Given the description of an element on the screen output the (x, y) to click on. 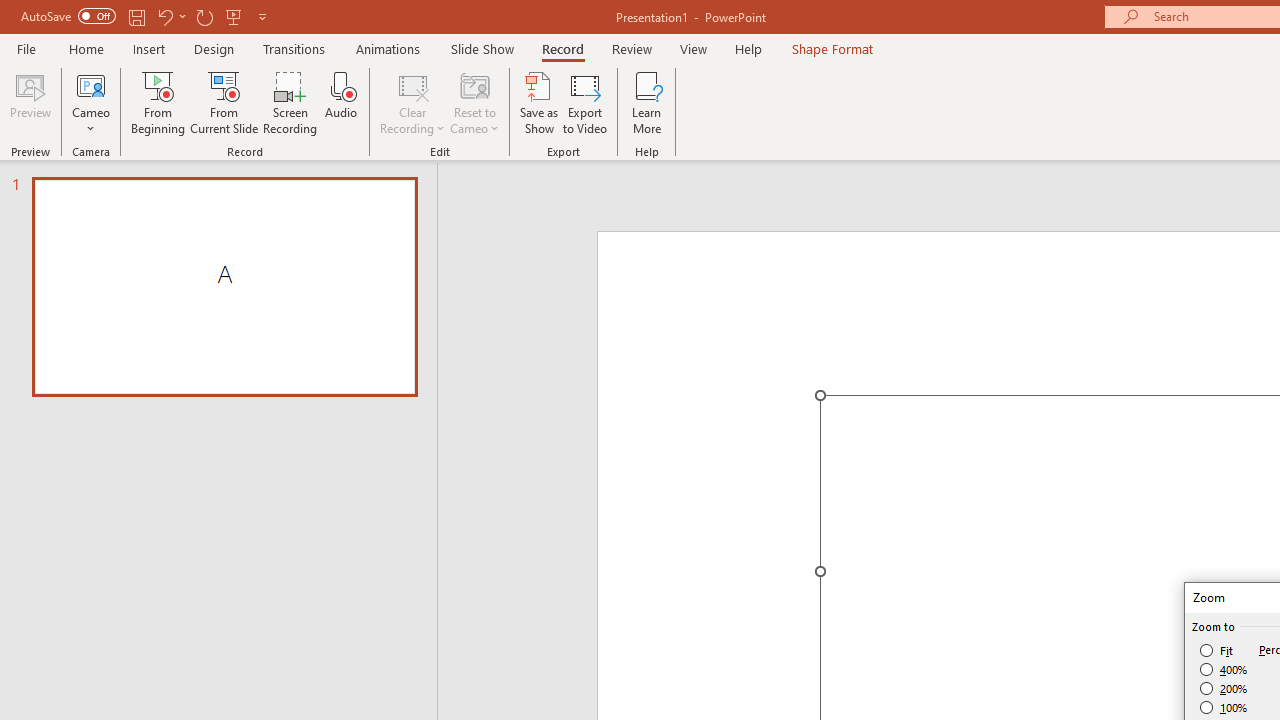
200% (1224, 688)
